Given the description of an element on the screen output the (x, y) to click on. 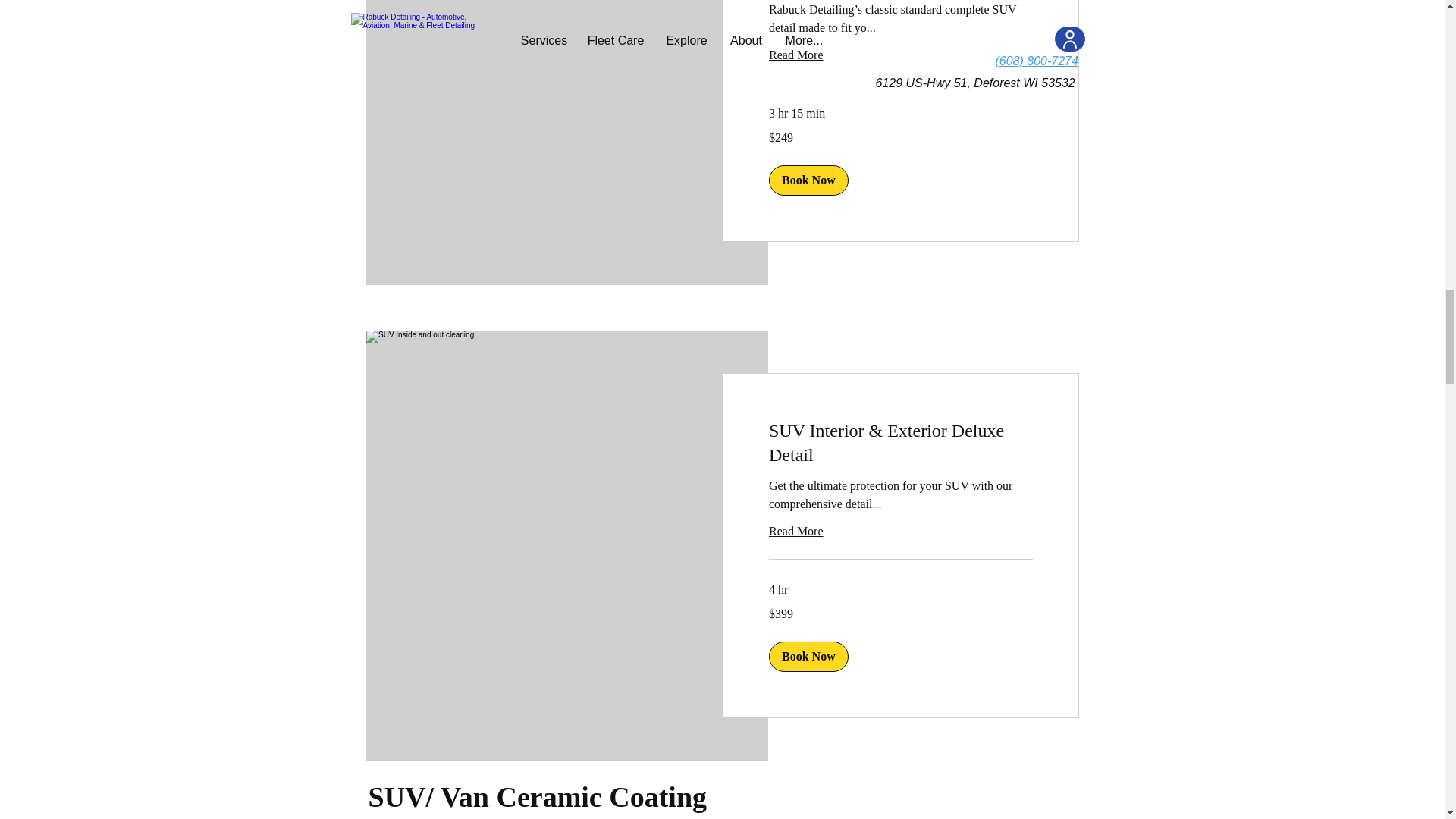
Read More (900, 54)
Book Now (808, 656)
Book Now (808, 180)
Read More (900, 531)
